Given the description of an element on the screen output the (x, y) to click on. 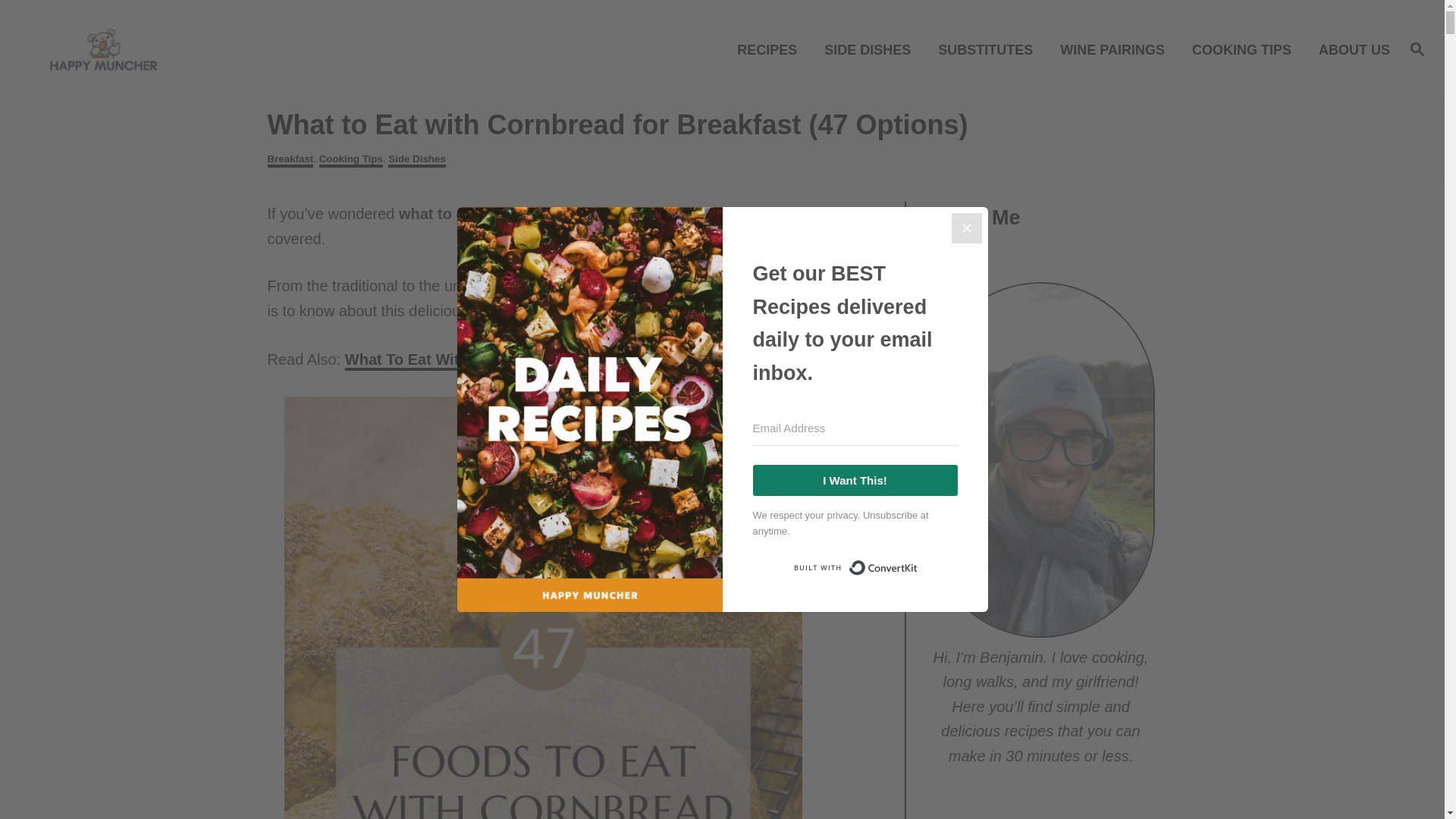
Magnifying Glass (1416, 48)
Breakfast (289, 160)
WINE PAIRINGS (1116, 49)
Happy Muncher (187, 49)
SUBSTITUTES (989, 49)
Cooking Tips (350, 160)
RECIPES (771, 49)
Side Dishes (416, 160)
SIDE DISHES (871, 49)
COOKING TIPS (1245, 49)
ABOUT US (1349, 49)
